Given the description of an element on the screen output the (x, y) to click on. 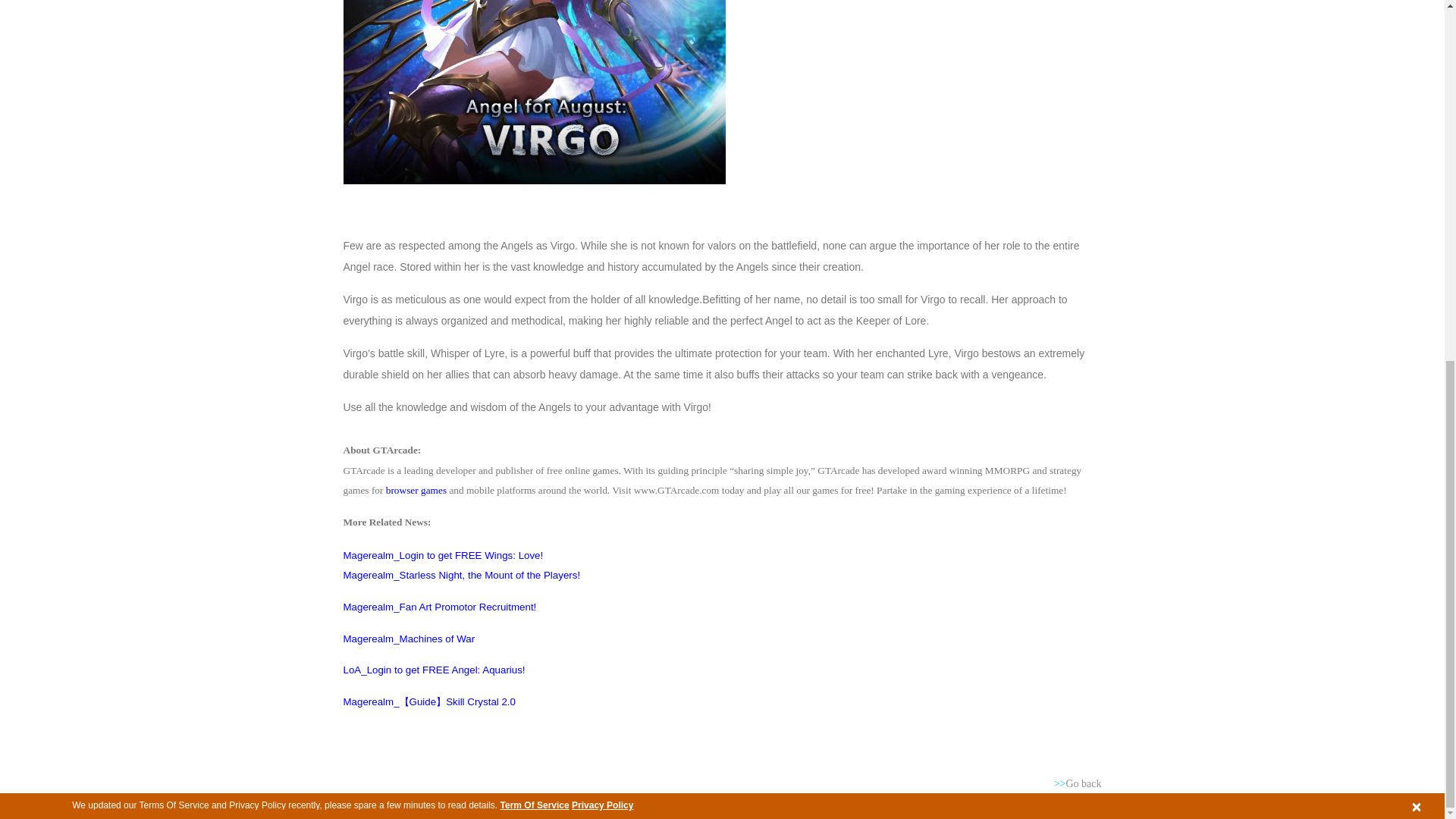
Privacy Policy (602, 163)
browser games (415, 490)
Term Of Service (534, 163)
